Given the description of an element on the screen output the (x, y) to click on. 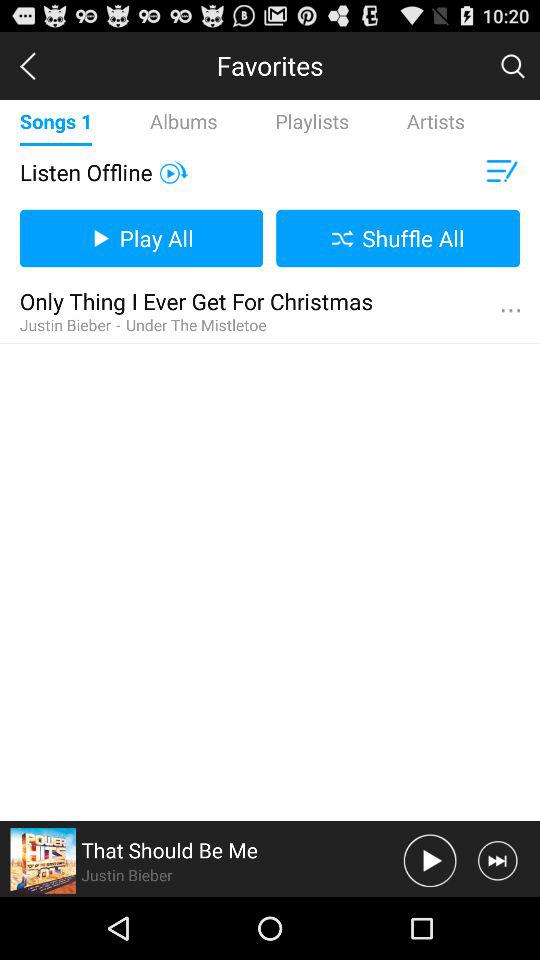
play offline (173, 171)
